Given the description of an element on the screen output the (x, y) to click on. 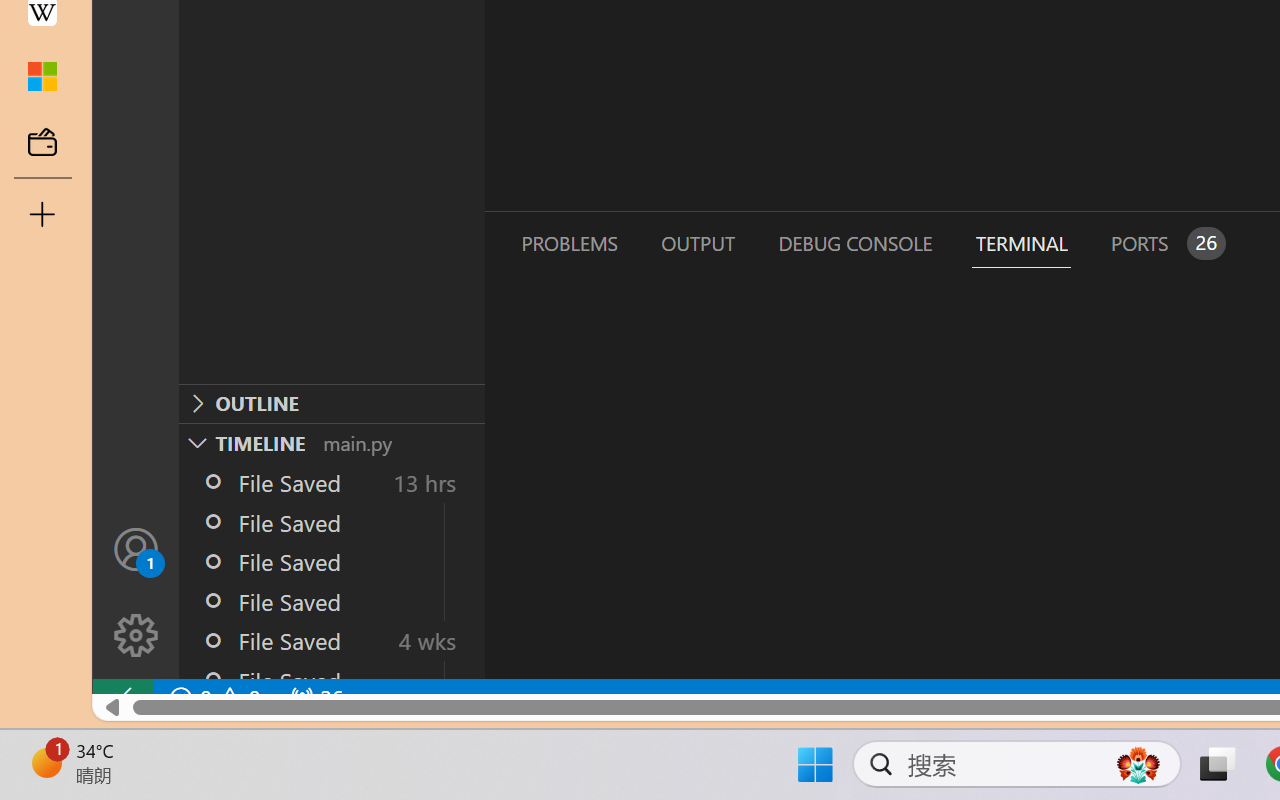
Debug Console (Ctrl+Shift+Y) (854, 243)
Problems (Ctrl+Shift+M) (567, 243)
No Problems (212, 698)
Ports - 26 forwarded ports (1165, 243)
Output (Ctrl+Shift+U) (696, 243)
remote (122, 698)
